Given the description of an element on the screen output the (x, y) to click on. 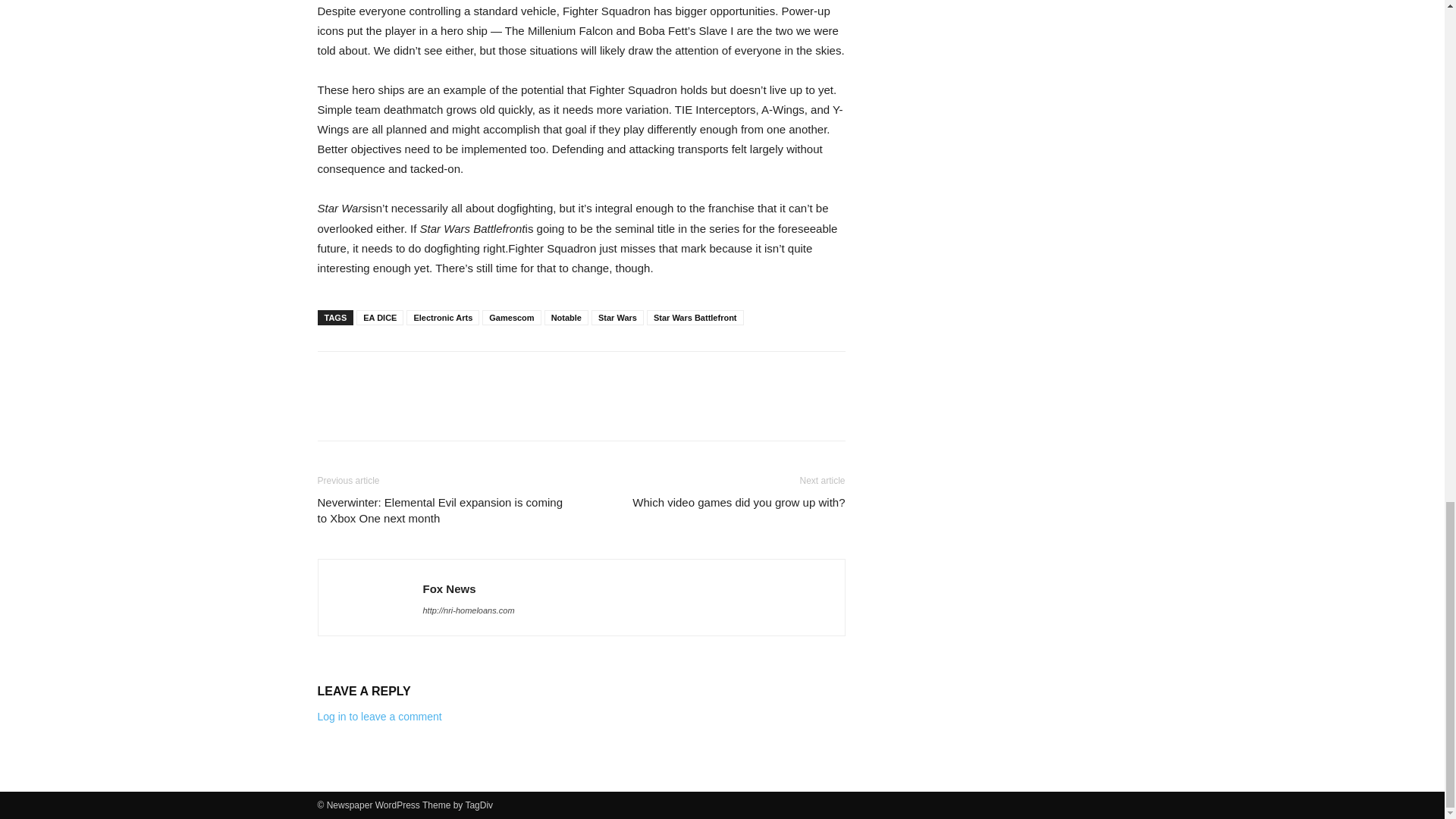
EA DICE (379, 317)
Star Wars Battlefront (695, 317)
Gamescom (510, 317)
Electronic Arts (442, 317)
Notable (566, 317)
Star Wars (617, 317)
Fox News (449, 588)
bottomFacebookLike (430, 375)
Which video games did you grow up with? (737, 502)
